Given the description of an element on the screen output the (x, y) to click on. 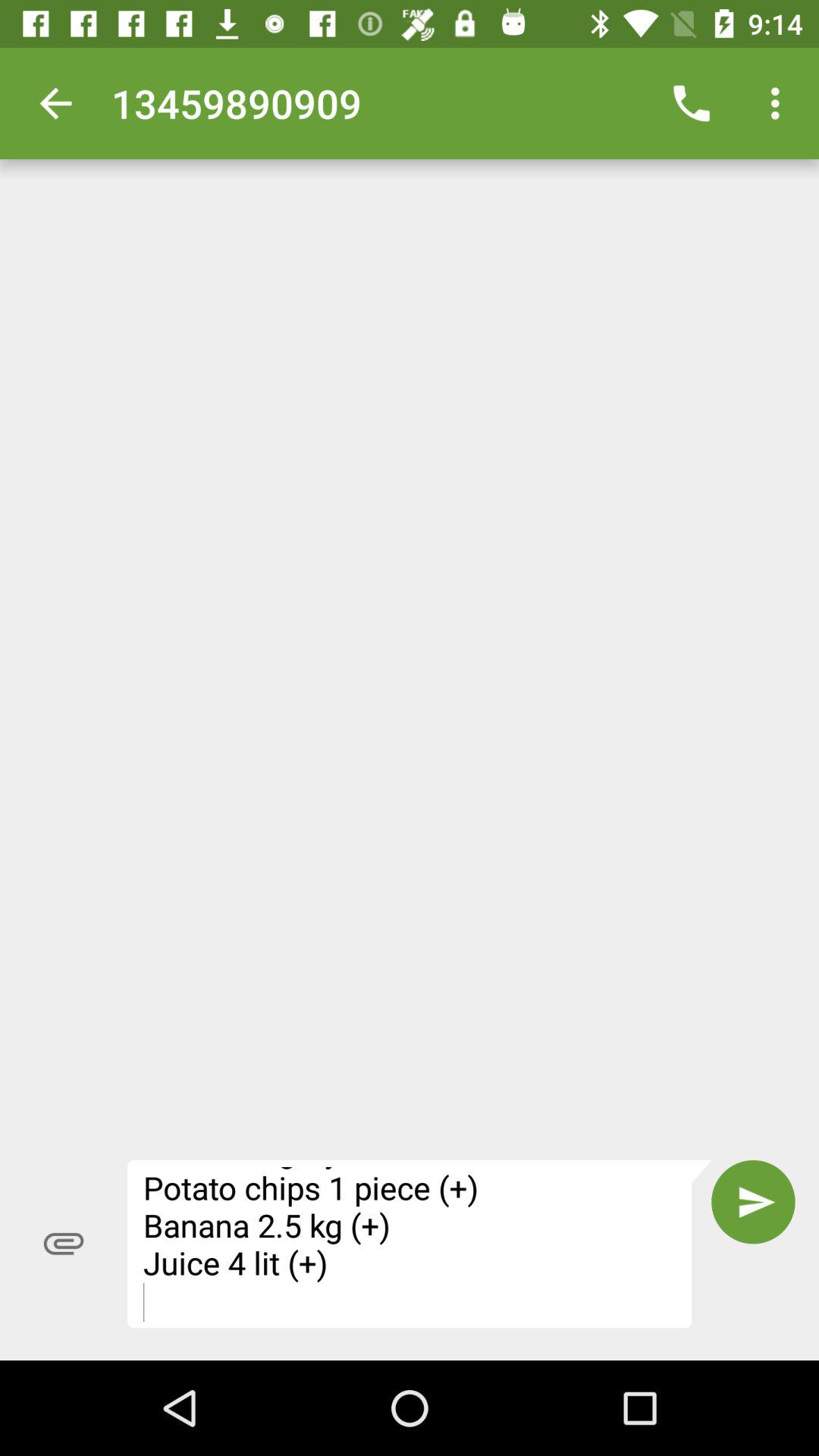
open the item to the left of the fivefly shopping list icon (63, 1243)
